Given the description of an element on the screen output the (x, y) to click on. 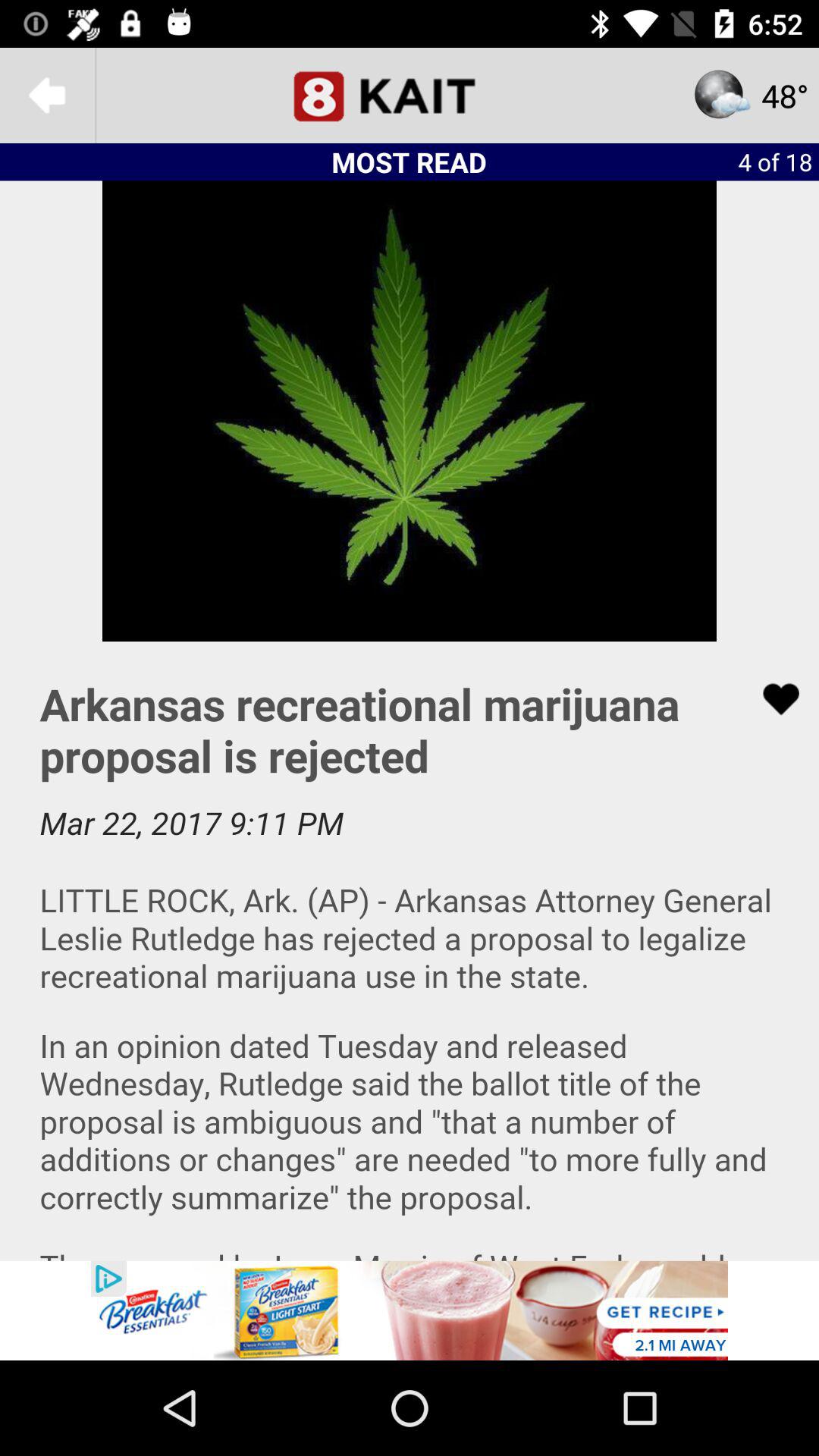
advertisement link (409, 1310)
